Given the description of an element on the screen output the (x, y) to click on. 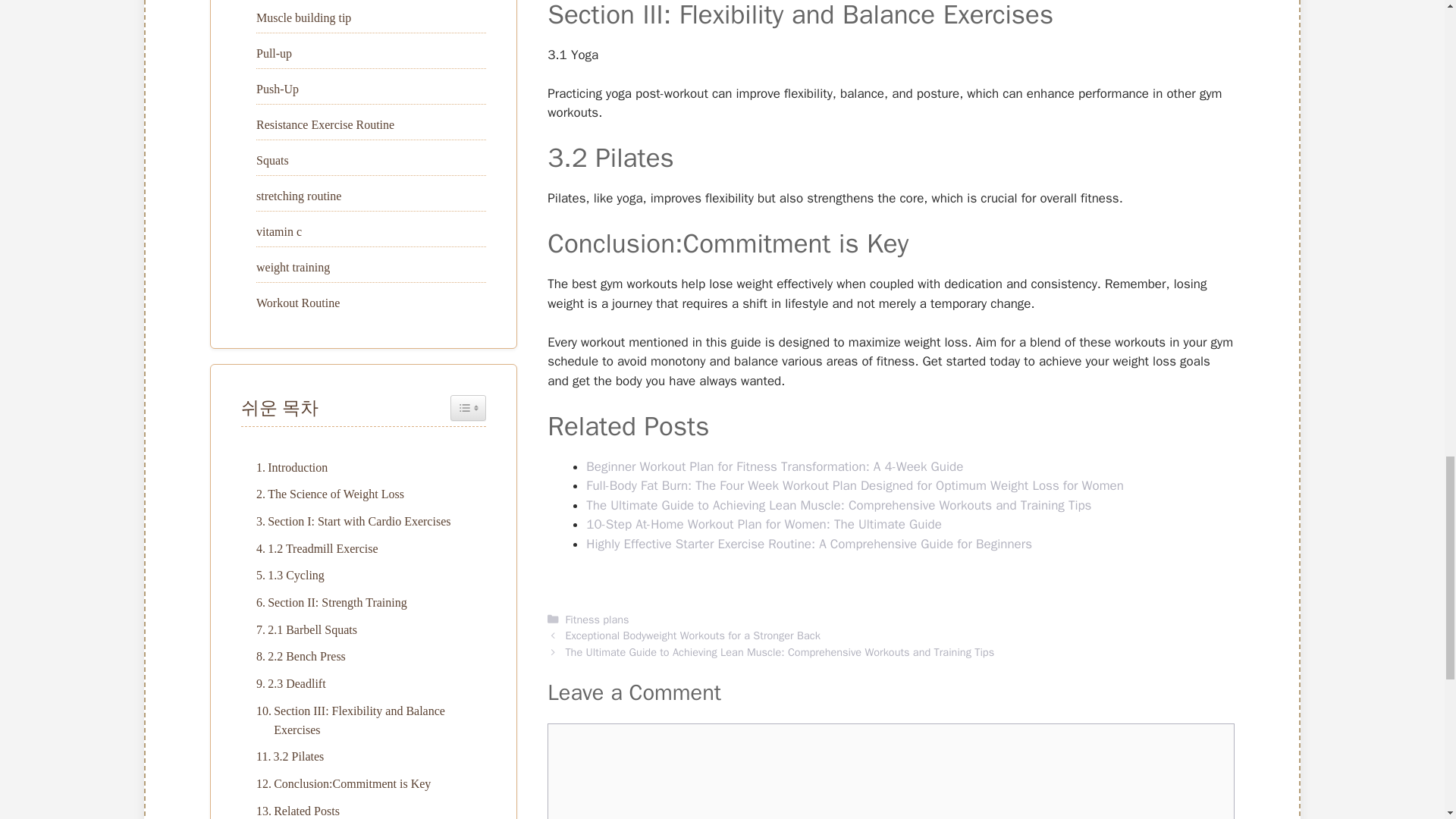
10-Step At-Home Workout Plan for Women: The Ultimate Guide (764, 524)
Introduction (287, 467)
Exceptional Bodyweight Workouts for a Stronger Back (692, 635)
Fitness plans (596, 619)
The Science of Weight Loss (326, 494)
